Given the description of an element on the screen output the (x, y) to click on. 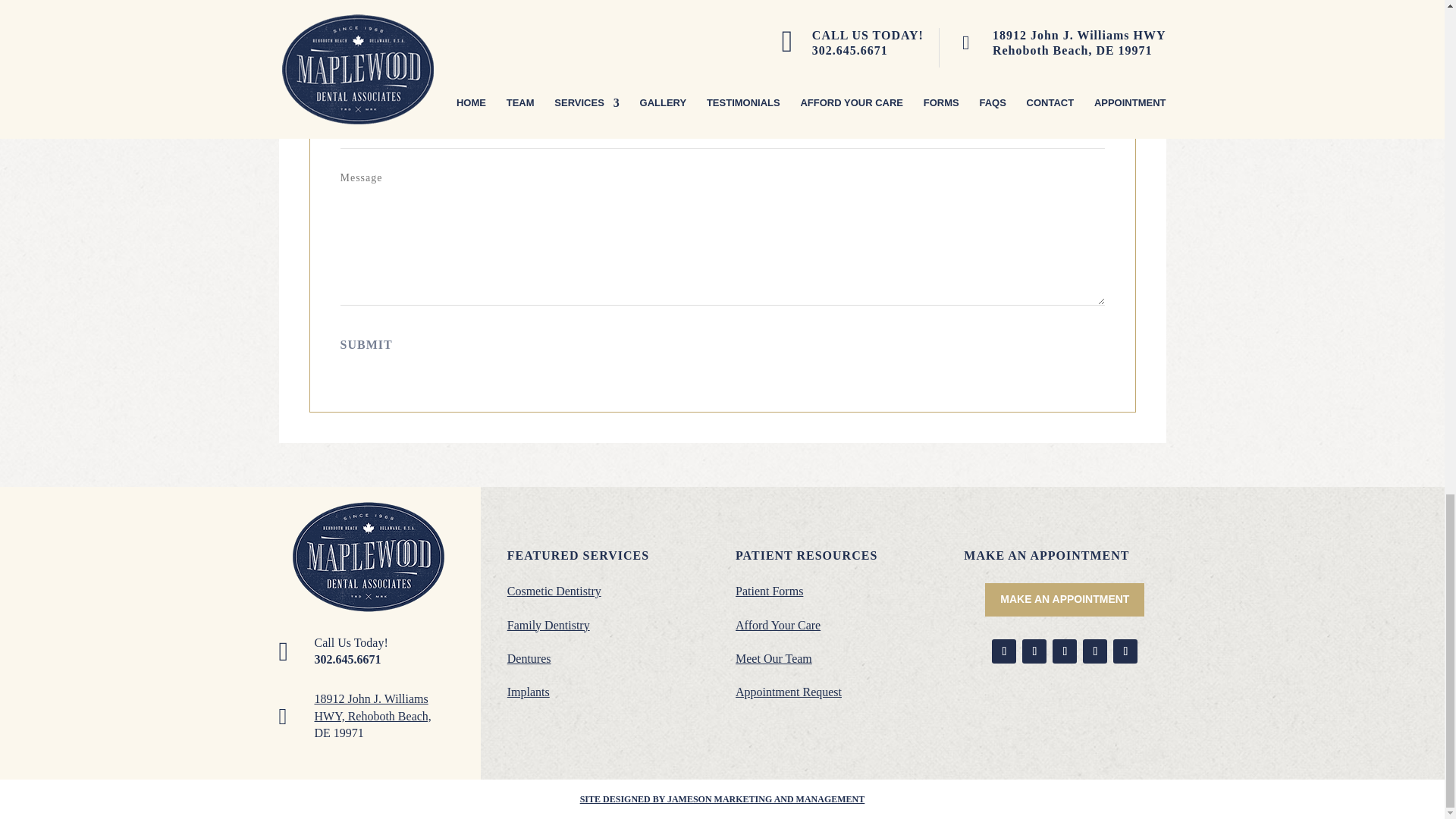
Submit (365, 344)
Follow on Twitter (1064, 651)
Follow on Youtube (1034, 651)
Follow on Facebook (1003, 651)
Follow on Instagram (1125, 651)
